Given the description of an element on the screen output the (x, y) to click on. 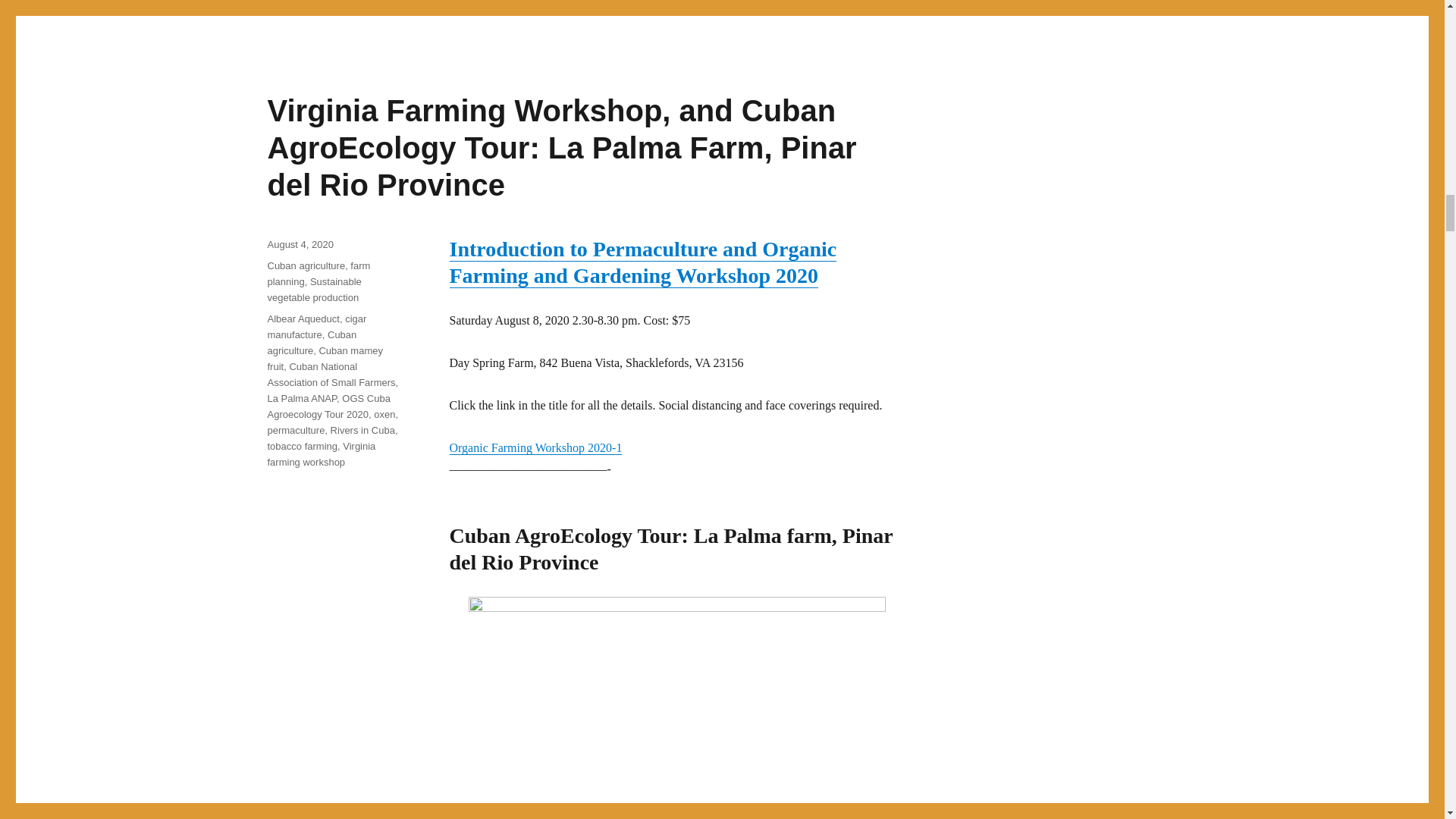
Organic Farming Workshop 2020-1 (534, 447)
